Given the description of an element on the screen output the (x, y) to click on. 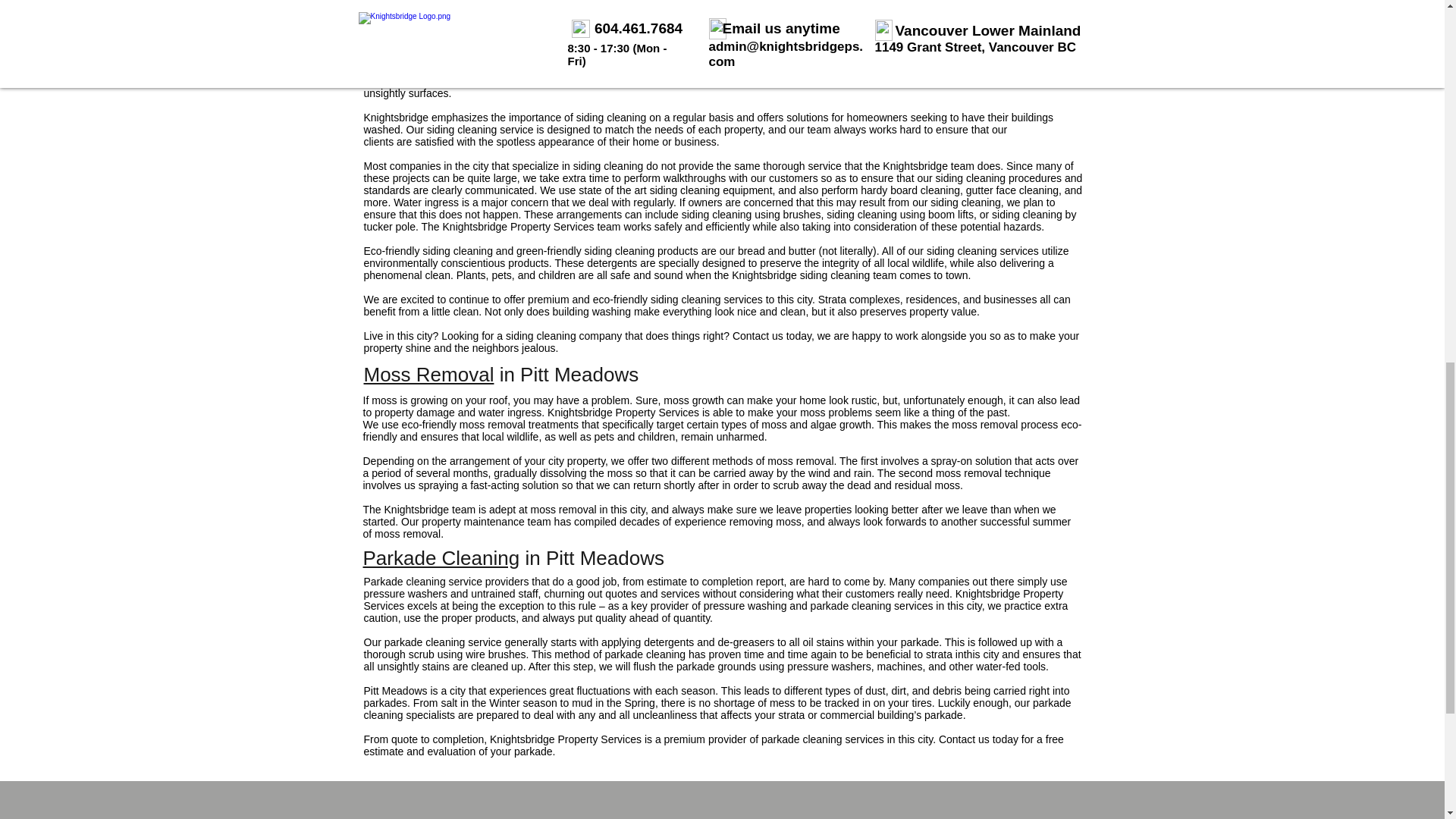
Siding Cleaning (433, 32)
Parkade Cleaning (440, 558)
Moss Removal (429, 374)
